Given the description of an element on the screen output the (x, y) to click on. 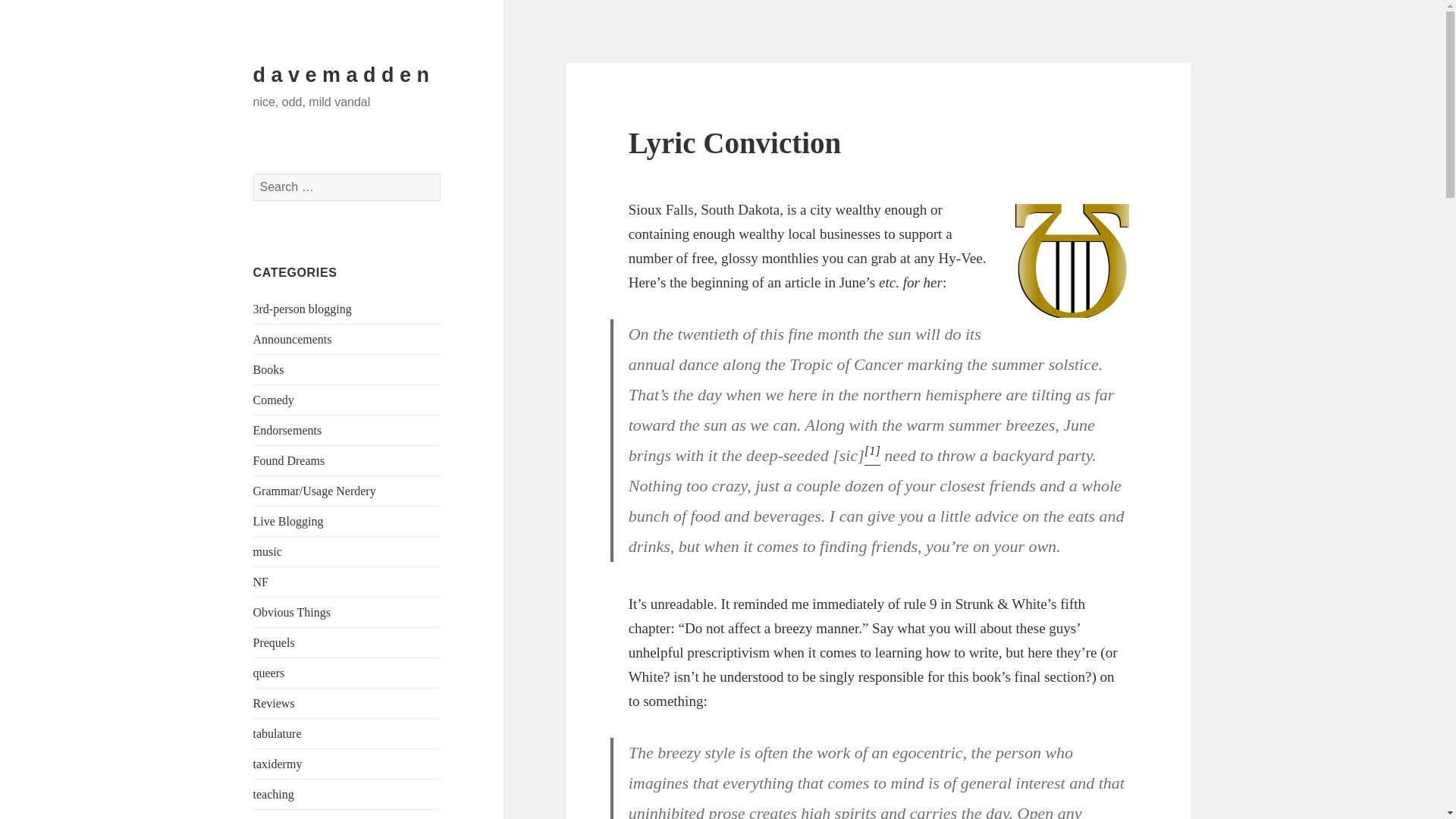
taxidermy (277, 763)
The Cupboard (288, 818)
Found Dreams (288, 460)
queers (269, 672)
Comedy (273, 399)
Live Blogging (288, 521)
3rd-person blogging (302, 308)
Books (268, 369)
NF (260, 581)
d a v e m a d d e n (341, 74)
teaching (273, 793)
music (267, 551)
Obvious Things (291, 612)
Reviews (274, 703)
Endorsements (287, 430)
